Given the description of an element on the screen output the (x, y) to click on. 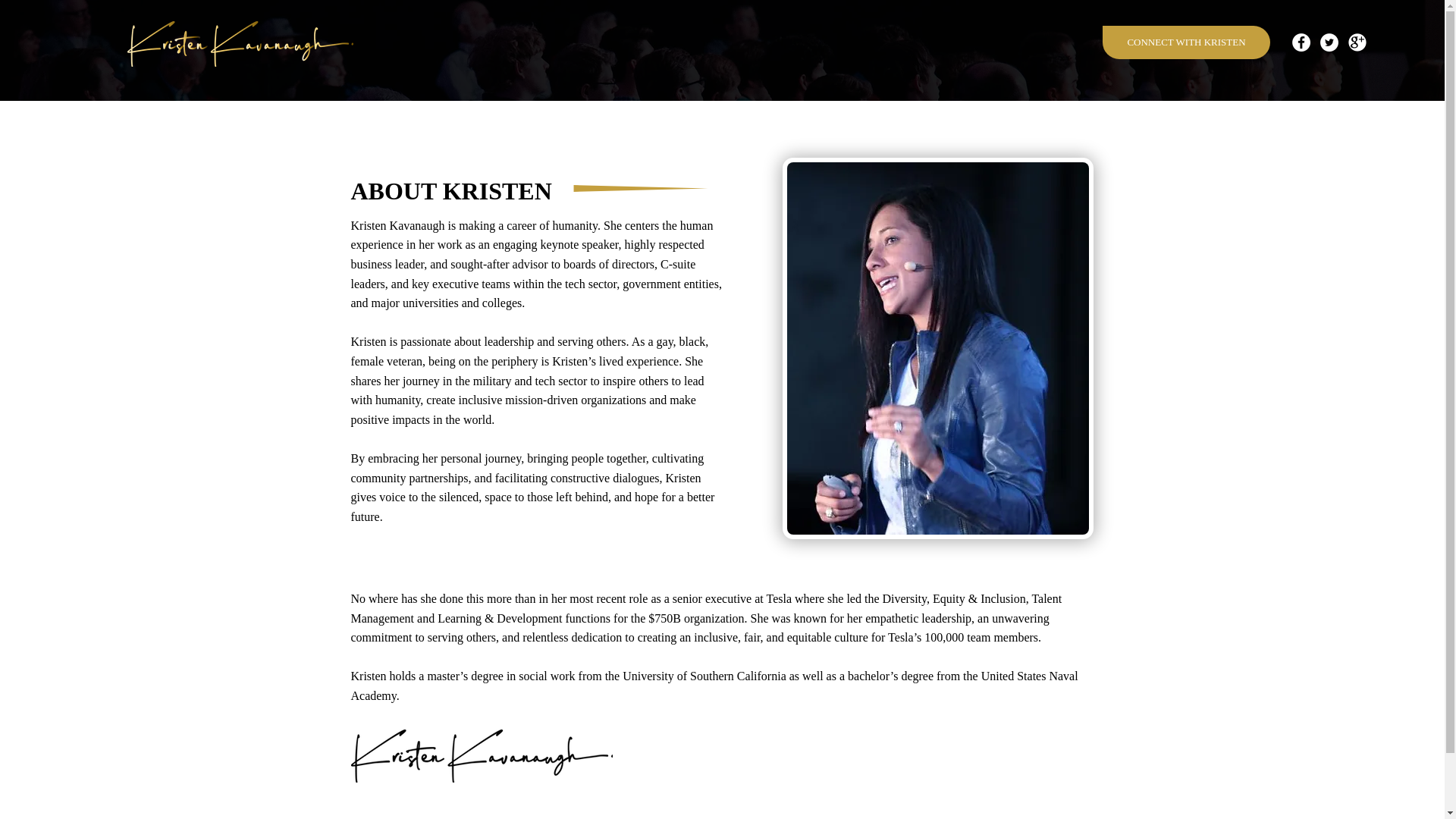
CONNECT WITH KRISTEN (1185, 41)
